Given the description of an element on the screen output the (x, y) to click on. 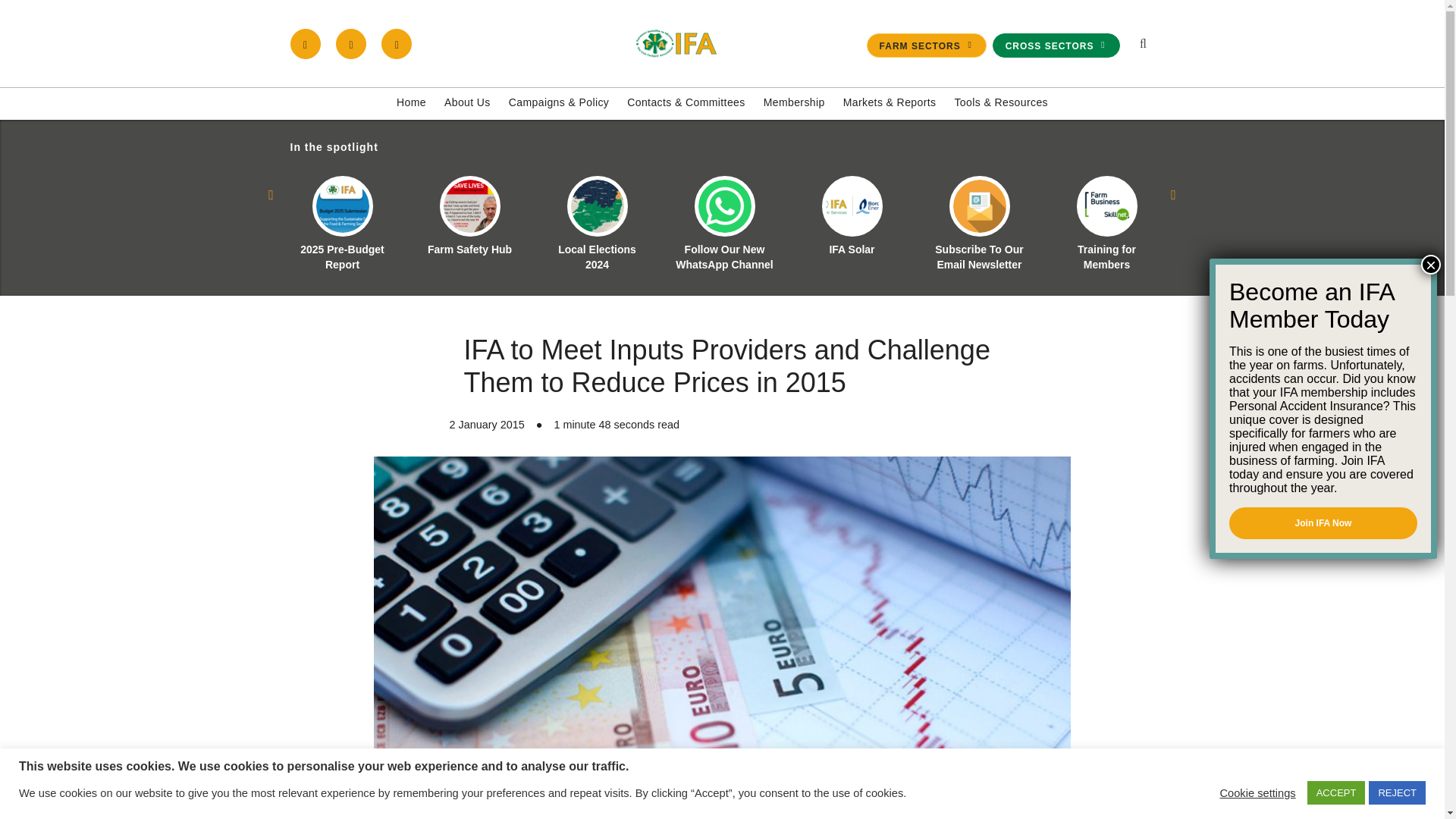
About Us (467, 103)
FARM SECTORS (926, 45)
Get the official IFA App (396, 43)
CROSS SECTORS (1055, 45)
Follow IFA on Facebook (304, 43)
Home (411, 103)
Search (1070, 210)
Follow IFA on Twitter (351, 43)
